Given the description of an element on the screen output the (x, y) to click on. 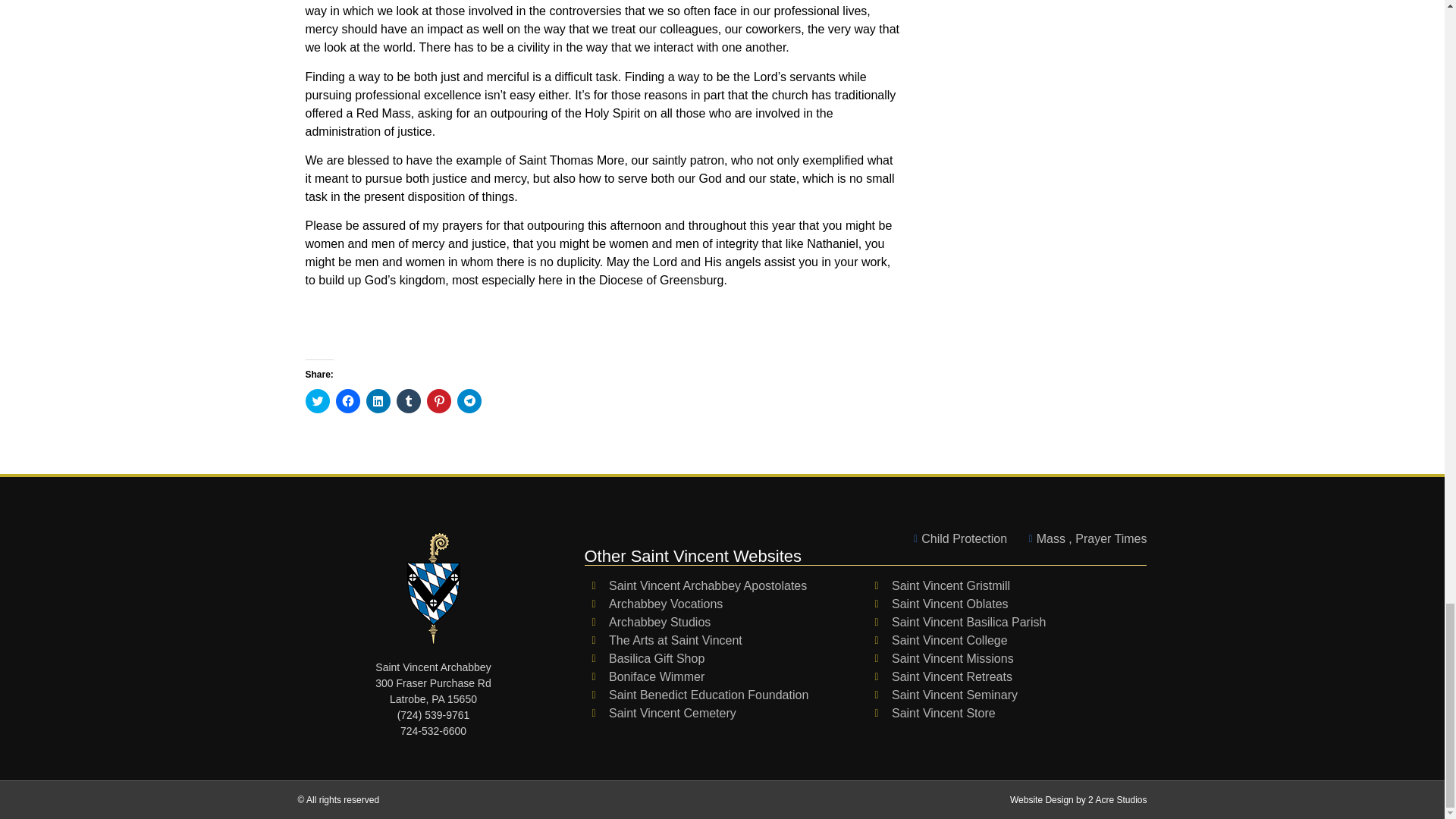
Click to share on Twitter (316, 401)
Click to share on Telegram (468, 401)
Click to share on Facebook (346, 401)
Click to share on LinkedIn (377, 401)
Click to share on Pinterest (437, 401)
Saint Vincent Archabbey Apostolates (725, 586)
Mass , Prayer Times (1083, 538)
Archabbey Vocations (725, 604)
Click to share on Tumblr (408, 401)
Child Protection (955, 538)
